Given the description of an element on the screen output the (x, y) to click on. 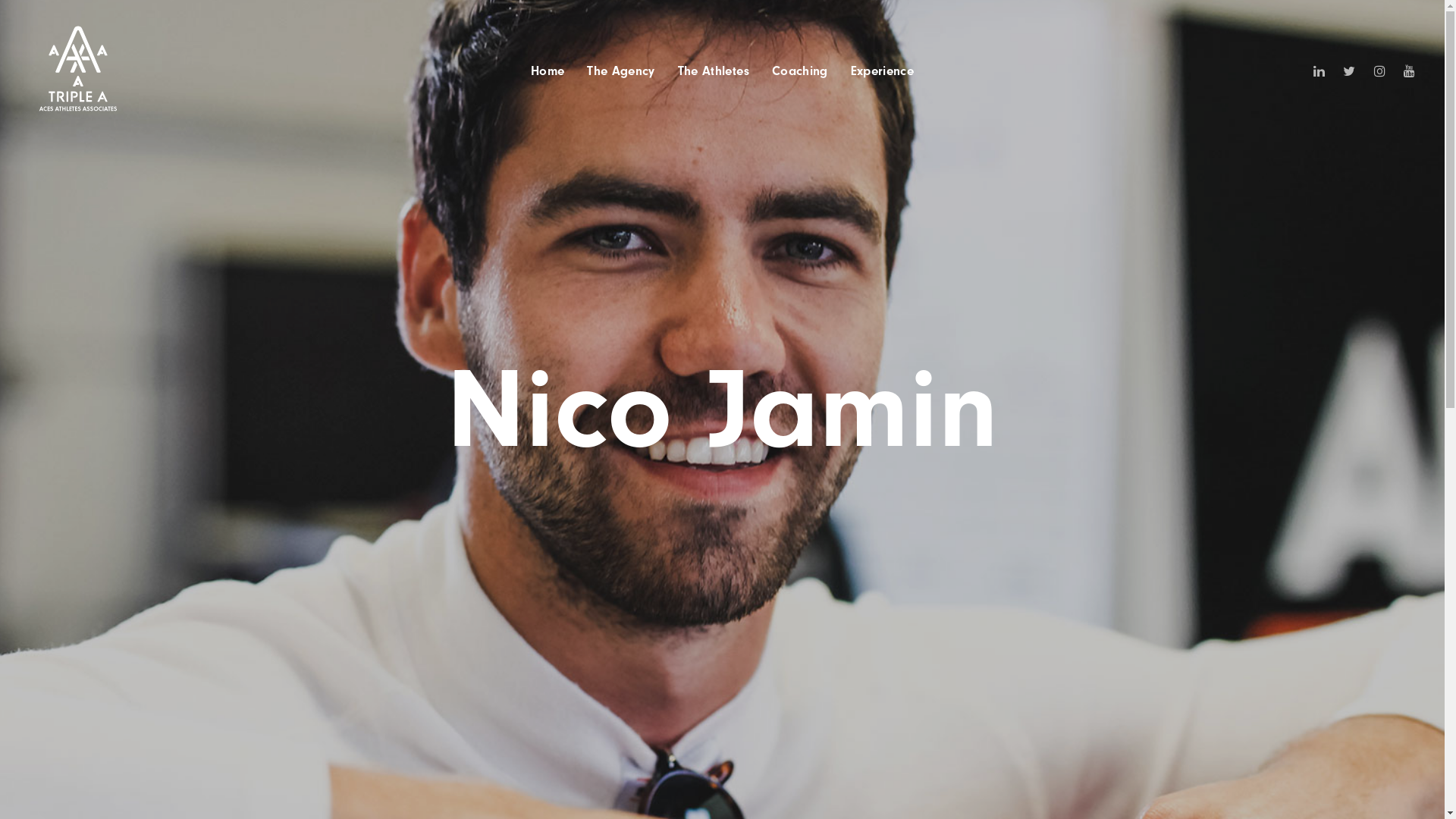
Coaching Element type: text (799, 71)
The Athletes Element type: text (713, 71)
Experience Element type: text (882, 71)
Home Element type: text (547, 71)
The Agency Element type: text (620, 71)
